Given the description of an element on the screen output the (x, y) to click on. 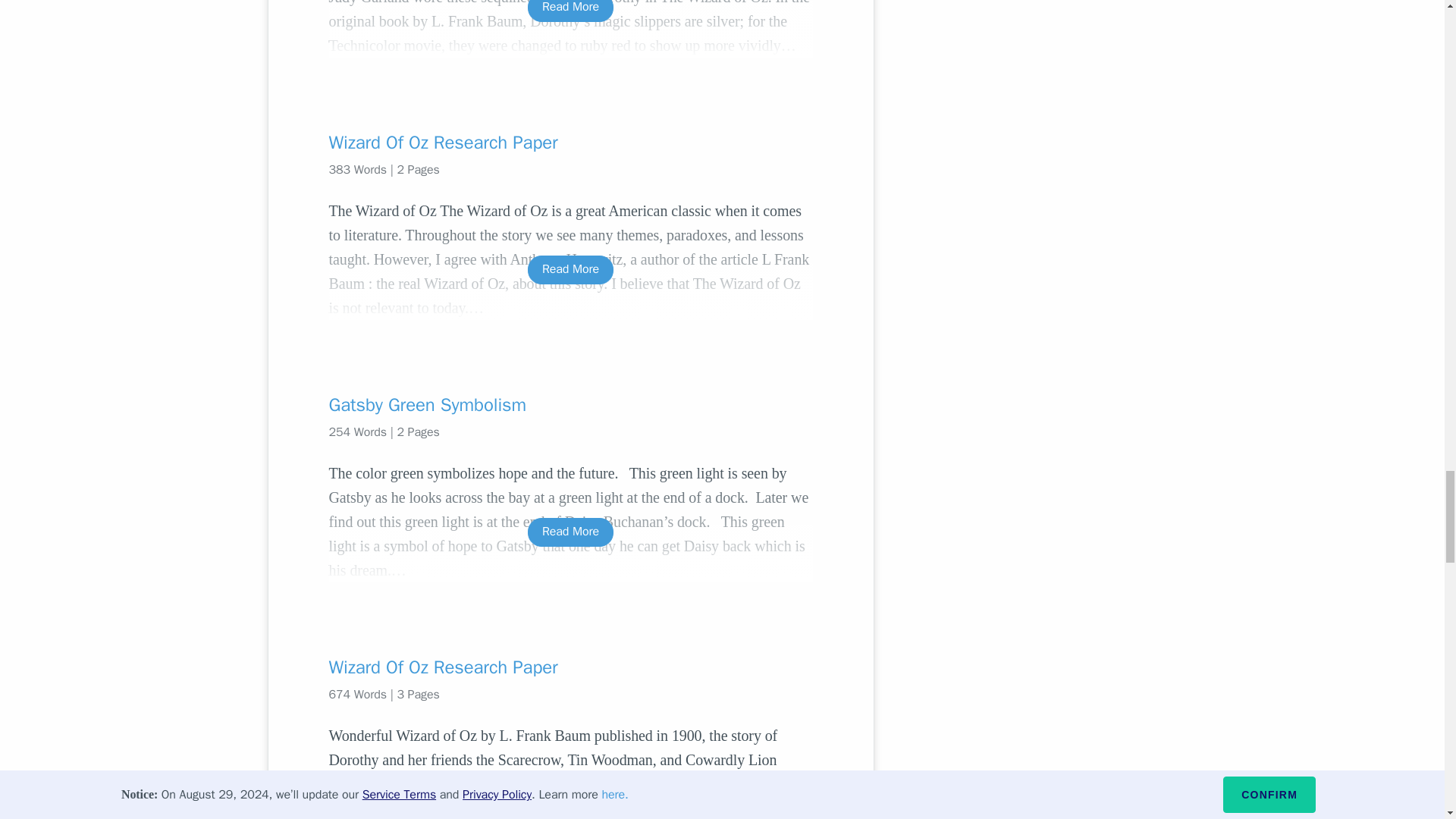
Read More (569, 10)
Read More (569, 269)
Wizard Of Oz Research Paper (570, 142)
Gatsby Green Symbolism (570, 404)
